Given the description of an element on the screen output the (x, y) to click on. 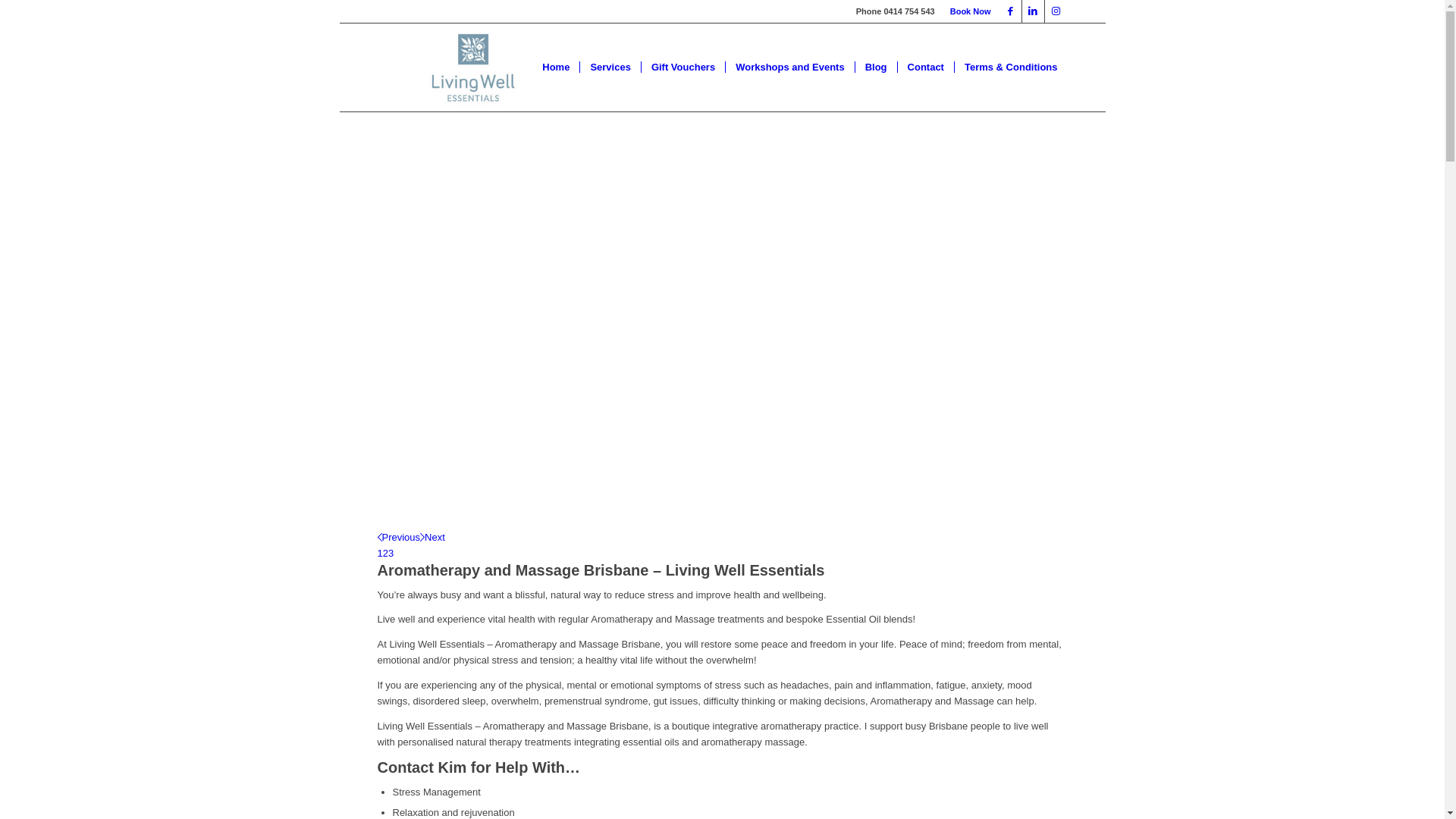
Terms & Conditions Element type: text (1010, 67)
Blog Element type: text (875, 67)
Services Element type: text (609, 67)
Workshops and Events Element type: text (789, 67)
Gift Vouchers Element type: text (682, 67)
3 Element type: text (390, 552)
Instagram Element type: hover (1055, 11)
Book Now Element type: text (970, 11)
LinkedIn Element type: hover (1033, 11)
1 Element type: text (379, 552)
Next Element type: text (432, 536)
Untitled design (5) Element type: hover (473, 67)
Contact Element type: text (925, 67)
2 Element type: text (385, 552)
Home Element type: text (555, 67)
Facebook Element type: hover (1010, 11)
Previous Element type: text (398, 536)
